Given the description of an element on the screen output the (x, y) to click on. 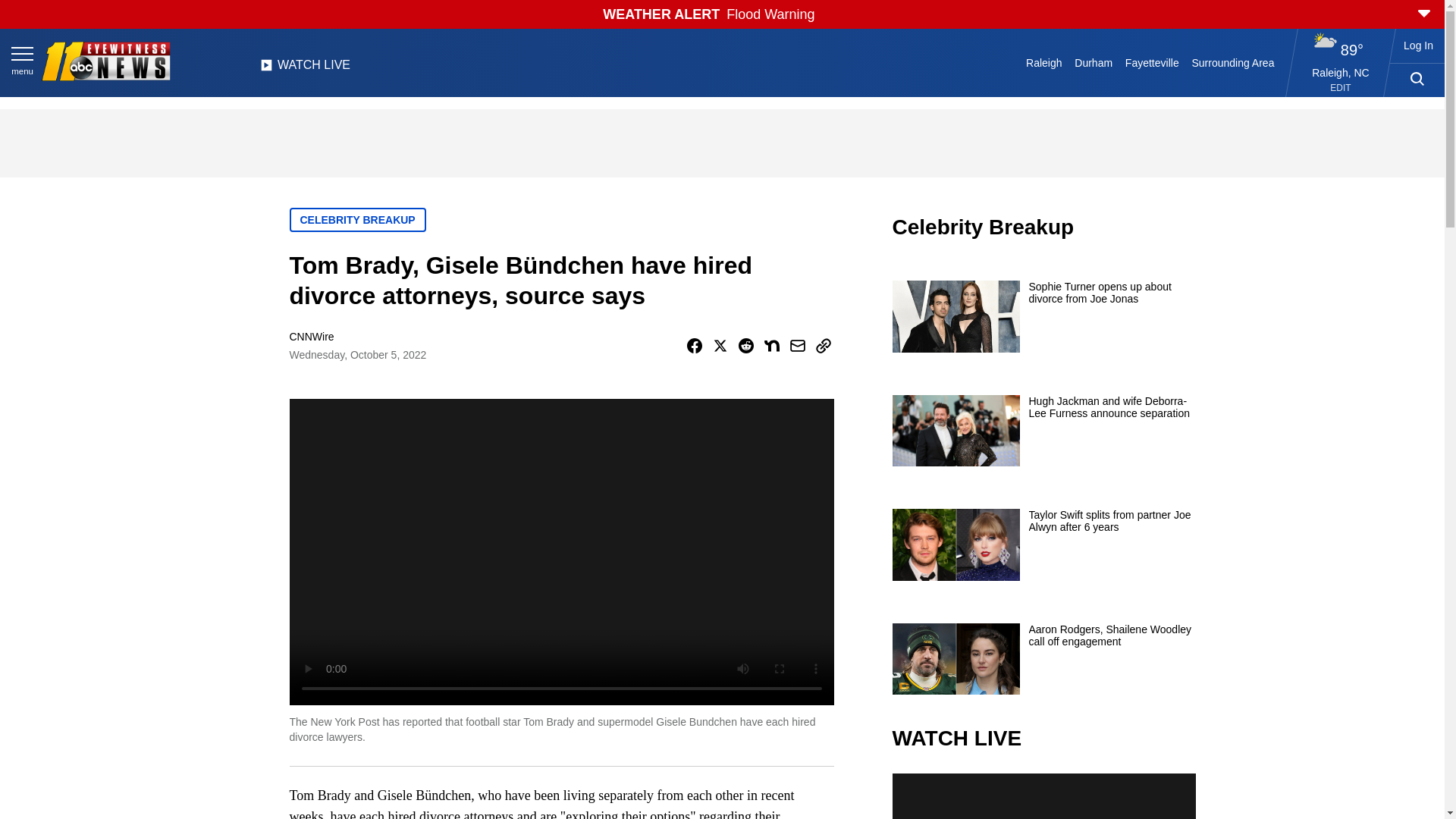
video.title (1043, 796)
Durham (1093, 62)
Surrounding Area (1233, 62)
Raleigh (1044, 62)
WATCH LIVE (305, 69)
EDIT (1340, 87)
Fayetteville (1151, 62)
Raleigh, NC (1340, 72)
